Given the description of an element on the screen output the (x, y) to click on. 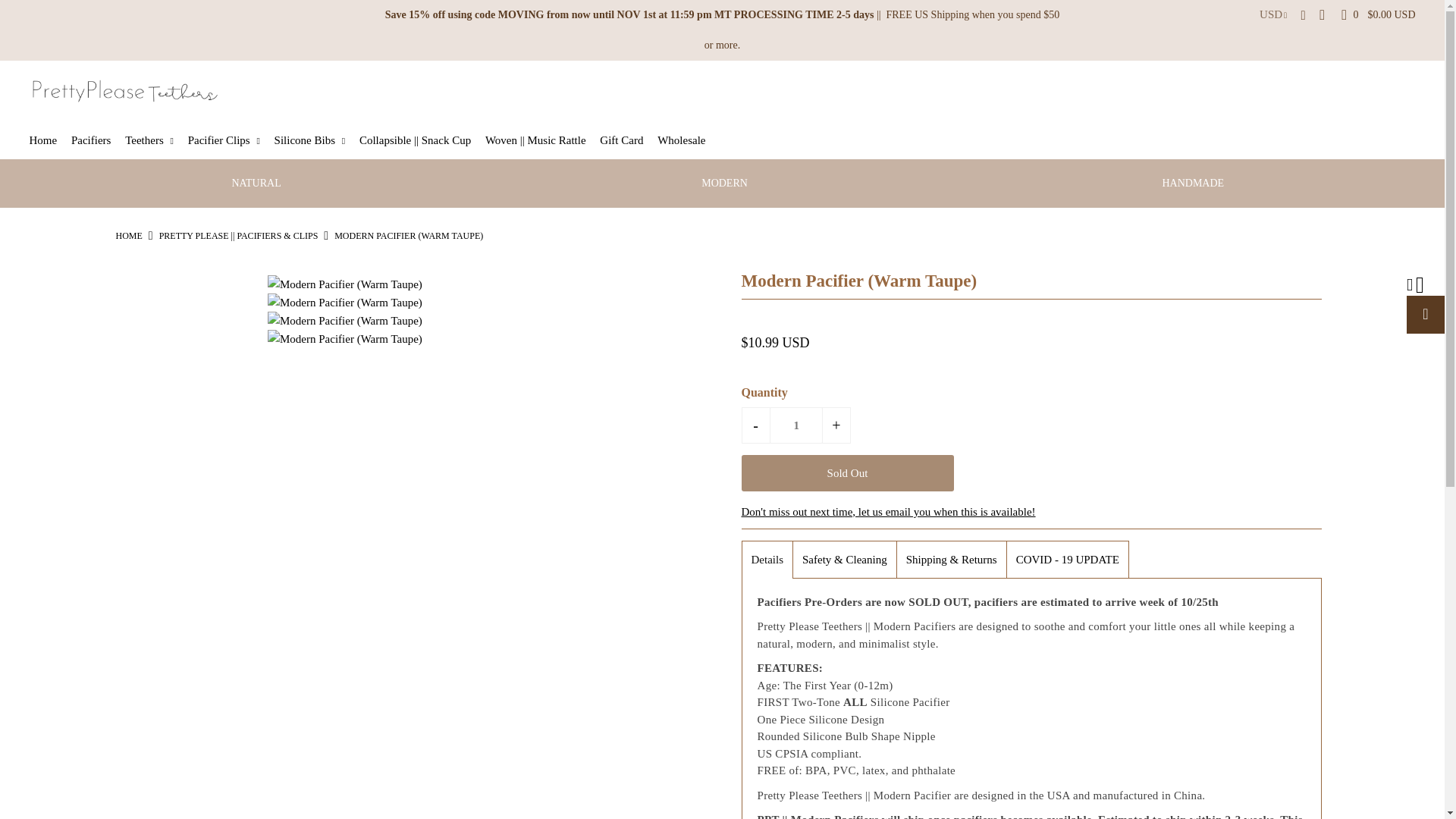
Silicone Bibs (315, 140)
1 (796, 425)
Pacifier Clips (228, 140)
Sold Out (847, 473)
Teethers (154, 140)
Pacifiers (96, 140)
Wholesale (687, 140)
Sold Out (847, 473)
Home (48, 140)
Gift Card (626, 140)
